Given the description of an element on the screen output the (x, y) to click on. 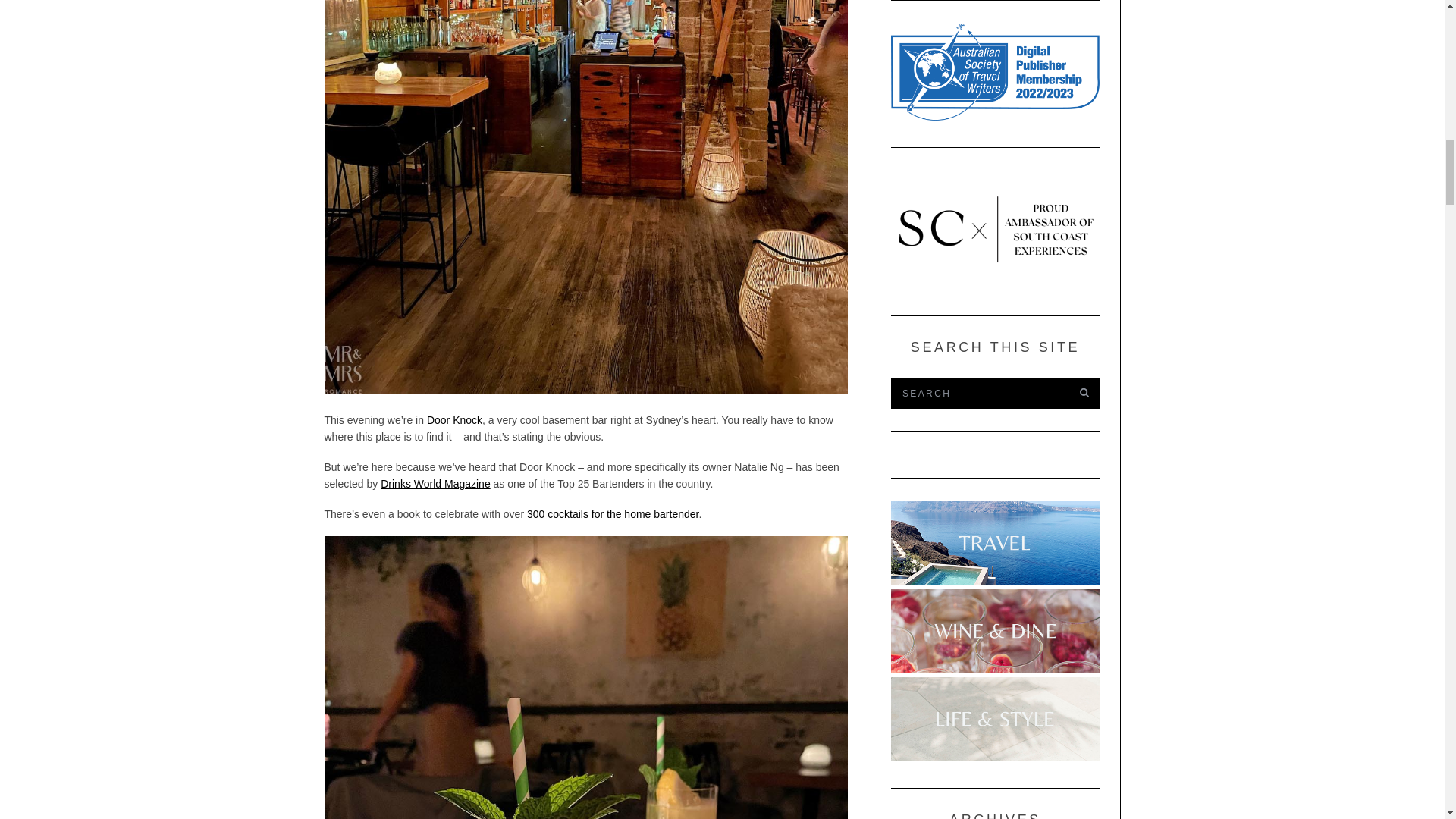
Search (976, 393)
